Given the description of an element on the screen output the (x, y) to click on. 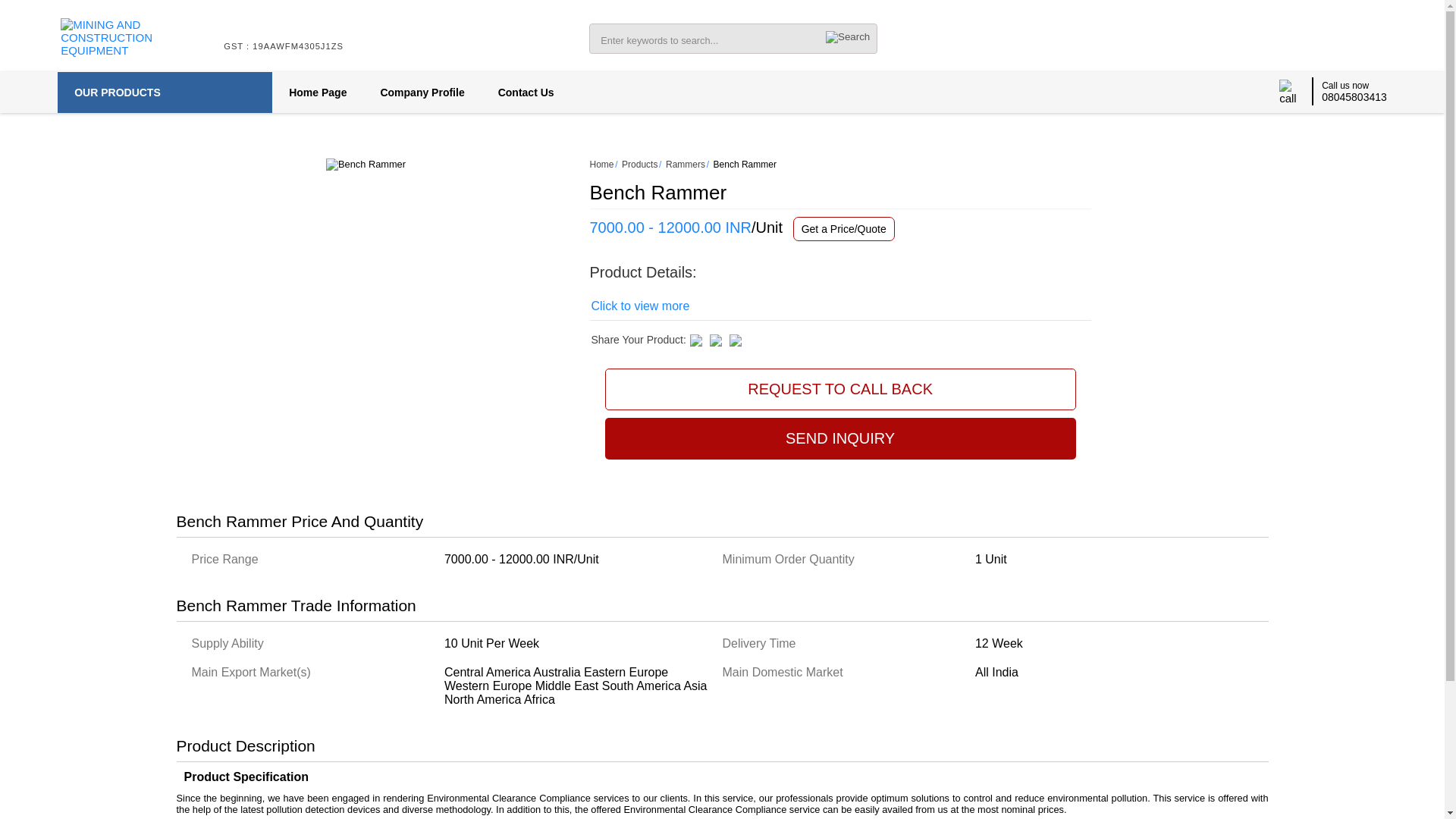
submit (847, 36)
submit (847, 36)
Enter keywords to search... (701, 38)
GST : 19AAWFM4305J1ZS (283, 55)
OUR PRODUCTS (165, 92)
